Given the description of an element on the screen output the (x, y) to click on. 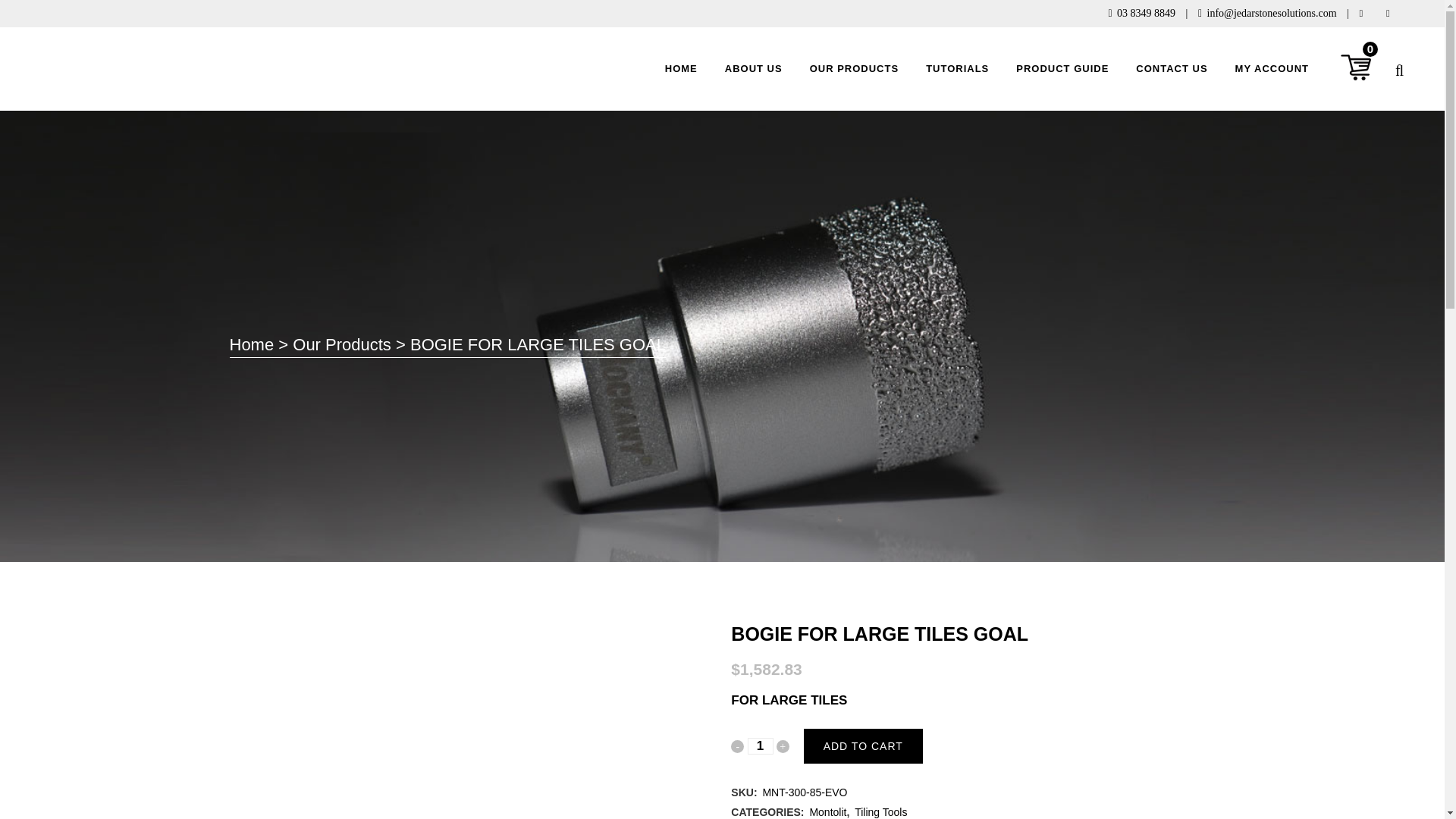
03 8349 8849 (1145, 12)
- (737, 746)
PRODUCT GUIDE (1062, 68)
Home (250, 343)
1 (760, 745)
0 (1356, 68)
Qty (760, 745)
ABOUT US (753, 68)
CONTACT US (1171, 68)
OUR PRODUCTS (854, 68)
